Given the description of an element on the screen output the (x, y) to click on. 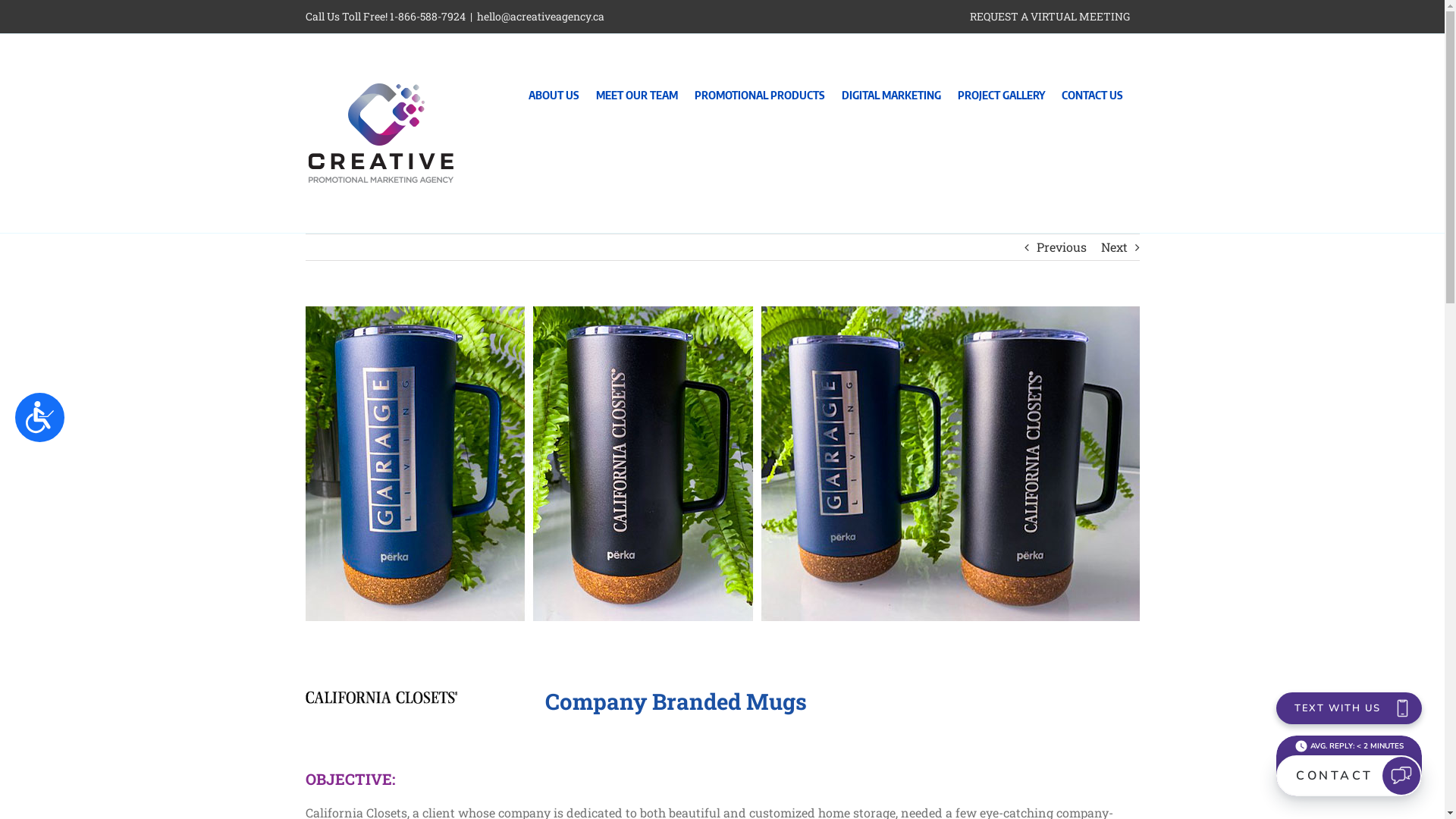
MEET OUR TEAM Element type: text (636, 90)
CONTACT US Element type: text (1092, 90)
1-866-588-7924 Element type: text (427, 16)
Next Element type: text (1114, 247)
Previous Element type: text (1060, 247)
PROMOTIONAL PRODUCTS Element type: text (759, 90)
REQUEST A VIRTUAL MEETING Element type: text (1049, 16)
DIGITAL MARKETING Element type: text (891, 90)
PROJECT GALLERY Element type: text (1000, 90)
hello@acreativeagency.ca Element type: text (539, 16)
View Larger Image Element type: text (721, 463)
ABOUT US Element type: text (552, 90)
